Given the description of an element on the screen output the (x, y) to click on. 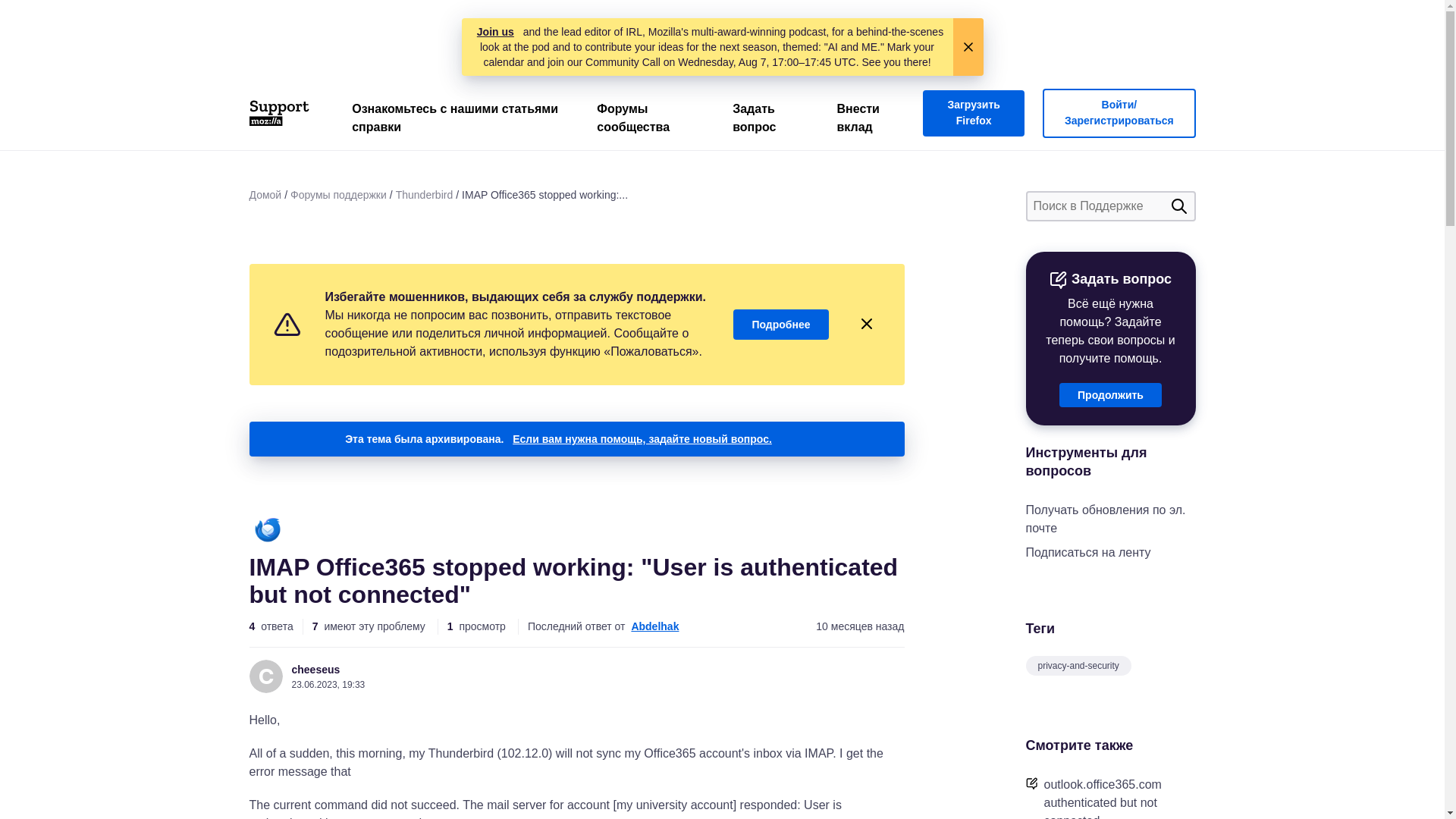
Join us (495, 31)
